Given the description of an element on the screen output the (x, y) to click on. 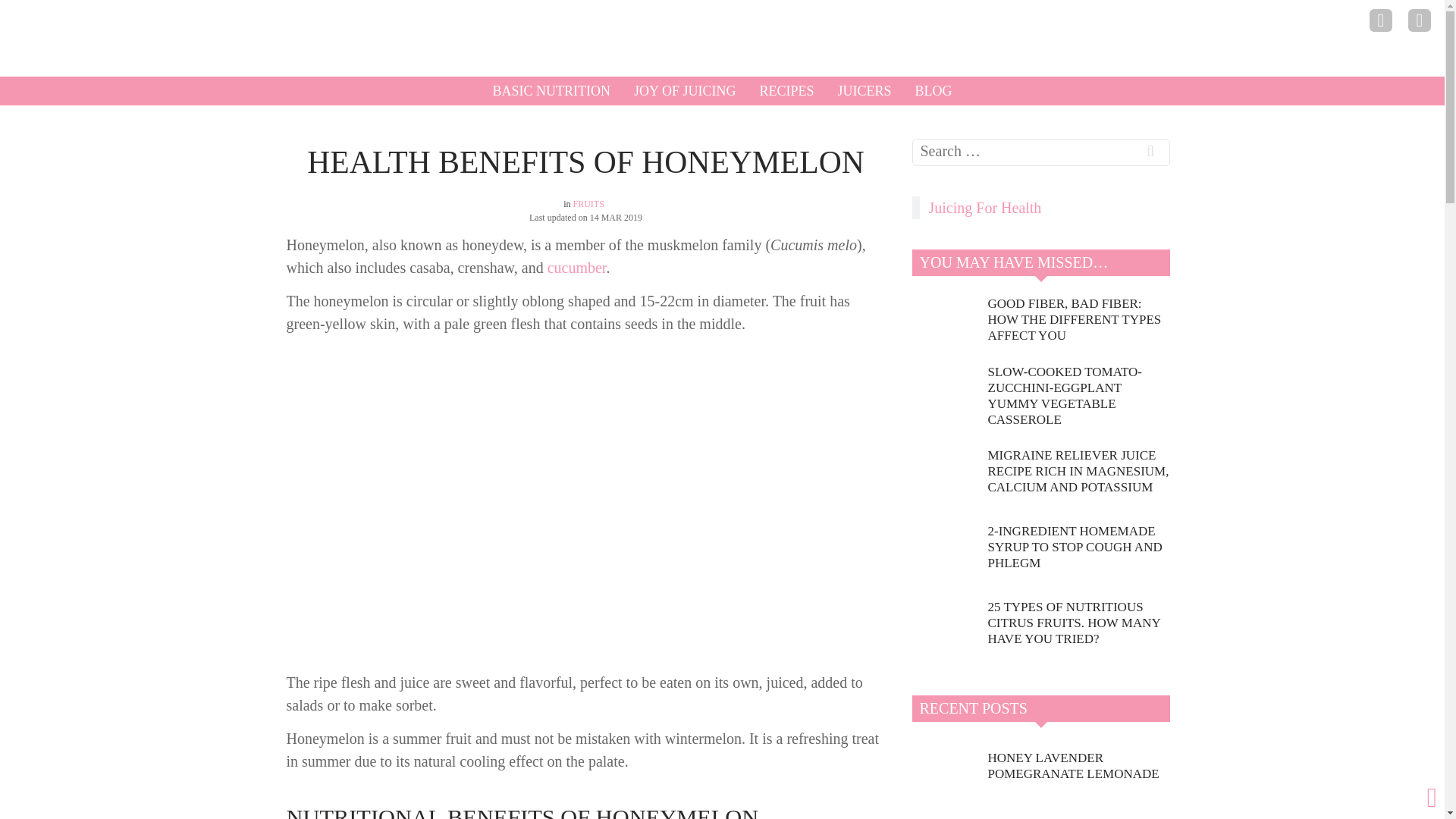
Search for: (1040, 152)
BASIC NUTRITION (552, 90)
Fruits (588, 204)
Permalink to Honey Lavender Pomegranate Lemonade (1078, 766)
JOY OF JUICING (684, 90)
Permalink to Papaya Juice for Constipation (1078, 813)
RECIPES (786, 90)
